Given the description of an element on the screen output the (x, y) to click on. 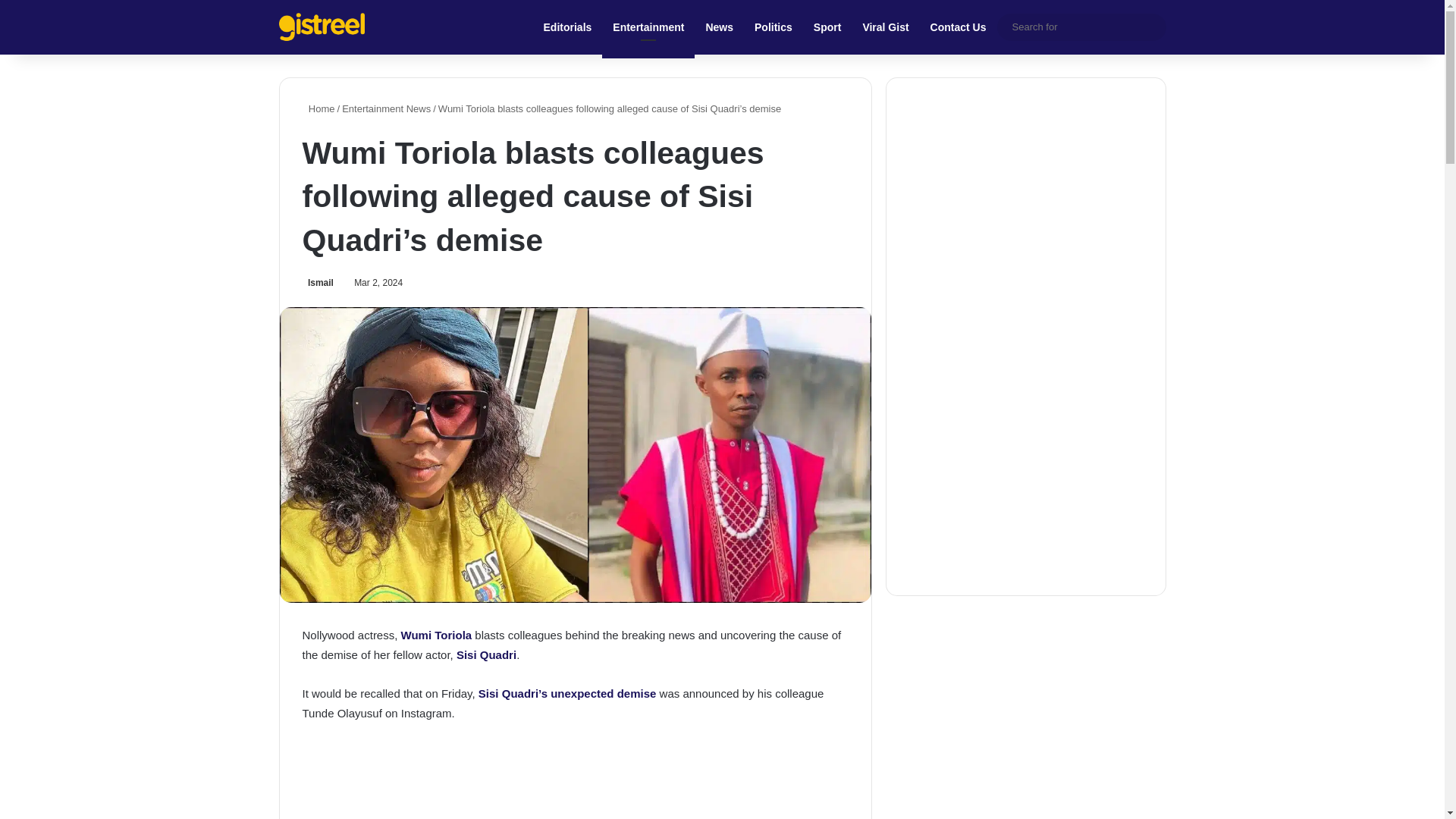
Sisi Quadri (486, 654)
Search for (1150, 26)
Wumi Toriola (436, 634)
Viral Gist (884, 27)
Ismail (317, 282)
Home (317, 108)
Editorials (567, 27)
Politics (773, 27)
GistReel Entertainment (322, 26)
Entertainment (648, 27)
